Given the description of an element on the screen output the (x, y) to click on. 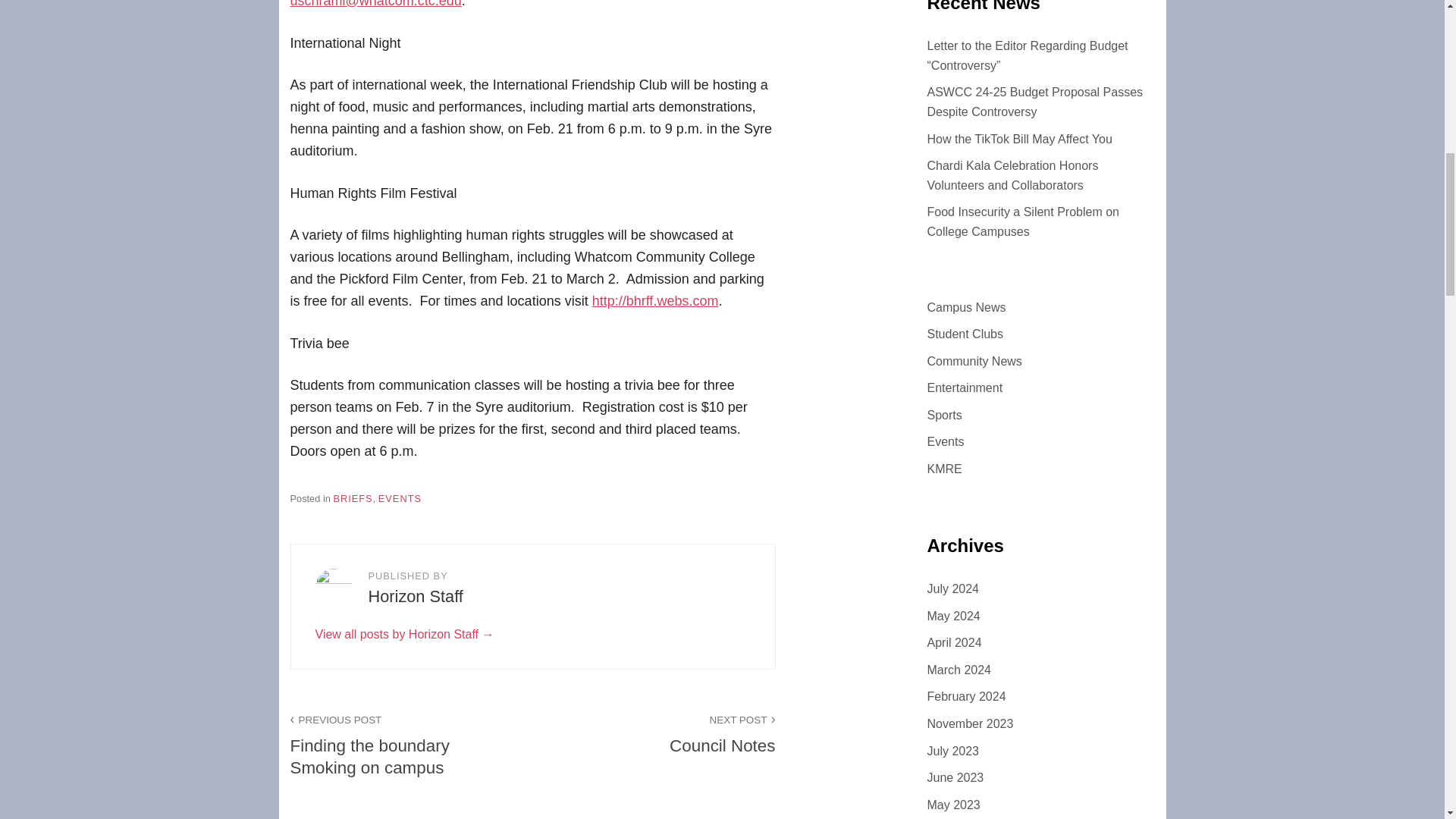
Sports (943, 414)
Campus News (653, 733)
How the TikTok Bill May Affect You (966, 307)
KMRE (1019, 138)
Events (943, 468)
View all posts by Horizon Staff (944, 440)
Student Clubs (405, 634)
Food Insecurity a Silent Problem on College Campuses (964, 333)
Chardi Kala Celebration Honors Volunteers and Collaborators (1022, 221)
